Given the description of an element on the screen output the (x, y) to click on. 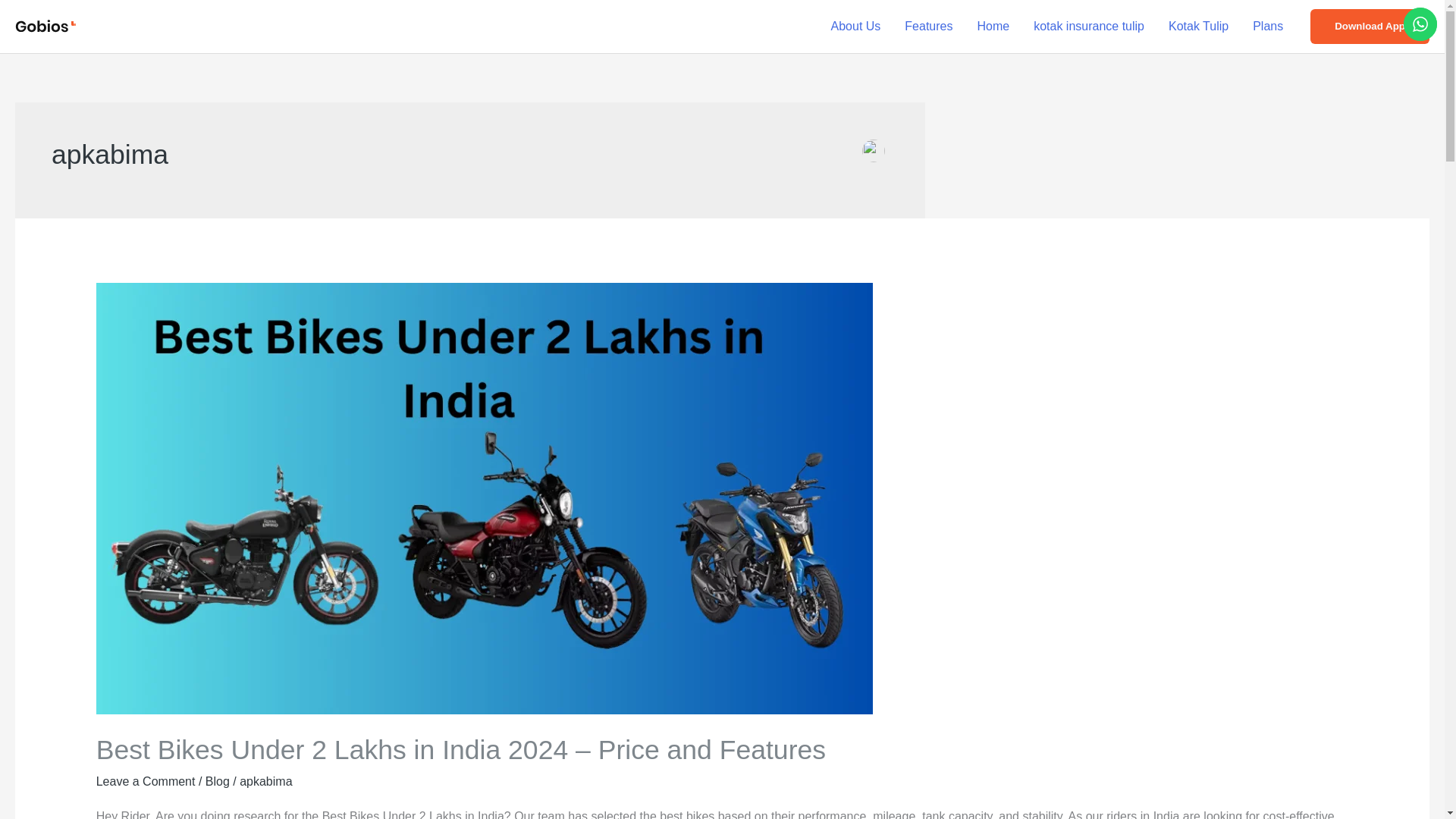
kotak insurance tulip (1089, 26)
Leave a Comment (145, 780)
About Us (855, 26)
Kotak Tulip (1198, 26)
Plans (1267, 26)
apkabima (266, 780)
View all posts by apkabima (266, 780)
Features (927, 26)
Blog (217, 780)
Download App (1369, 26)
